Given the description of an element on the screen output the (x, y) to click on. 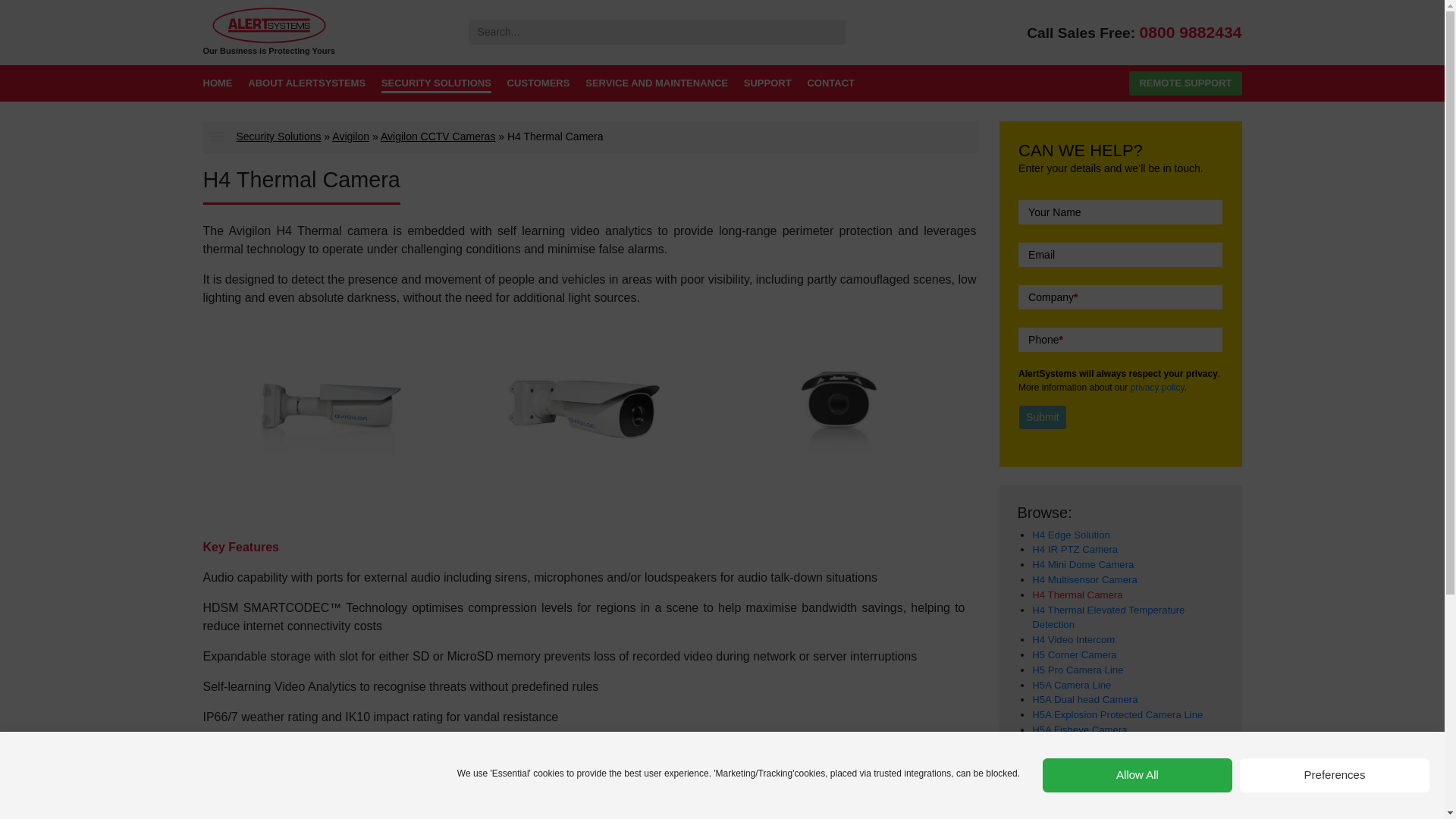
Submit (1042, 417)
SERVICE AND MAINTENANCE (656, 84)
SUPPORT (768, 84)
HOME (217, 84)
H4 Edge Solution (1070, 534)
privacy policy (1158, 387)
CUSTOMERS (538, 84)
H4 IR PTZ Camera (1075, 549)
REMOTE SUPPORT (1185, 83)
ABOUT ALERTSYSTEMS (306, 84)
SECURITY SOLUTIONS (436, 84)
CONTACT (830, 84)
H4 Mini Dome Camera (1083, 564)
